Given the description of an element on the screen output the (x, y) to click on. 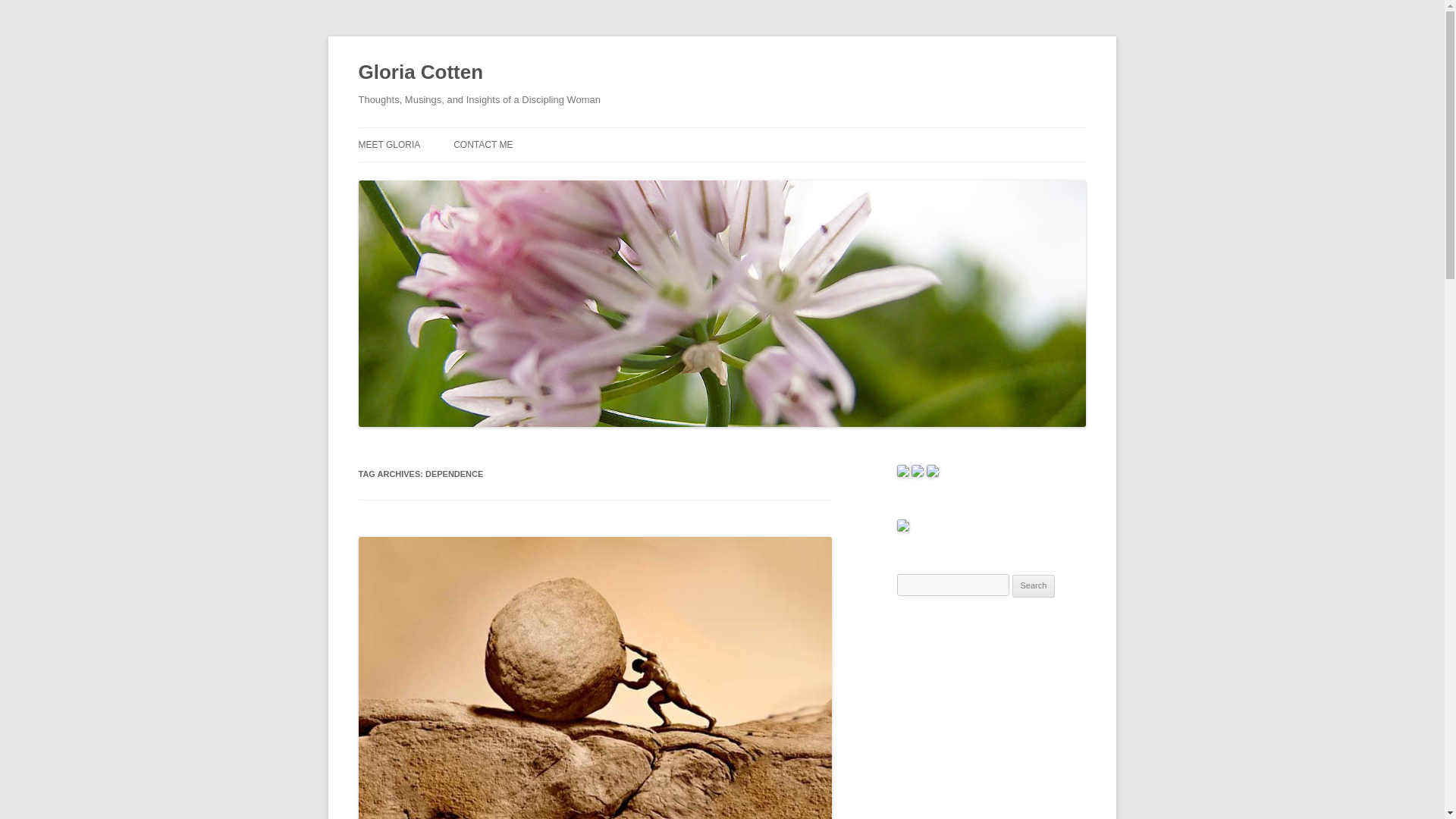
Friend me on Facebook (902, 473)
MEET GLORIA (389, 144)
RSS Feed (932, 473)
Gloria Cotten (420, 72)
Gloria Cotten (420, 72)
Search (1033, 585)
Search (1033, 585)
Follow me on Twitter (917, 473)
